Given the description of an element on the screen output the (x, y) to click on. 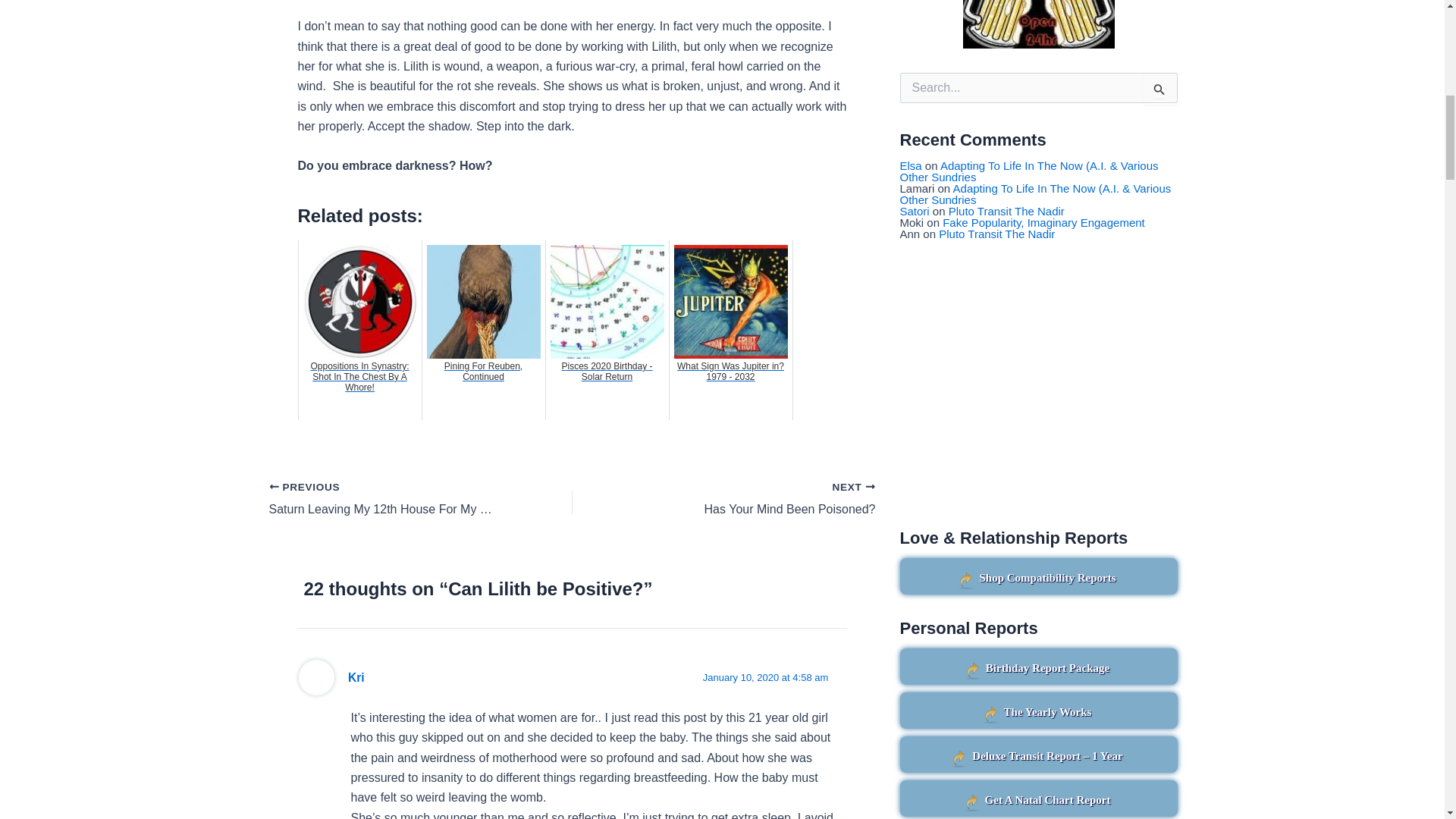
Search (1159, 88)
Saturn Leaving My 12th House For My 1st - GOODBYE TO YOU! (389, 499)
Search (1159, 88)
Has Your Mind Been Poisoned? (753, 499)
